Given the description of an element on the screen output the (x, y) to click on. 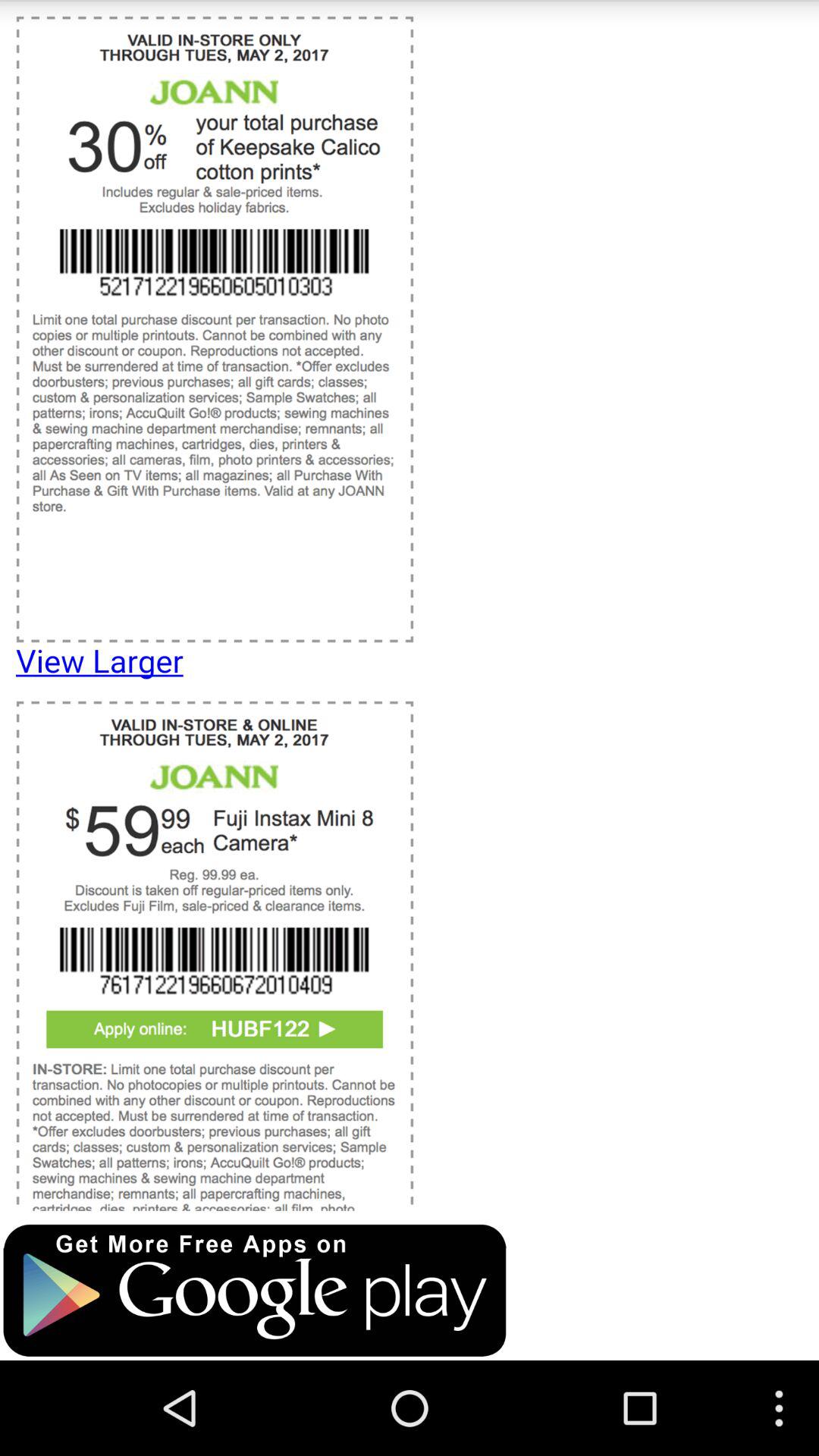
opens google play (254, 1290)
